Given the description of an element on the screen output the (x, y) to click on. 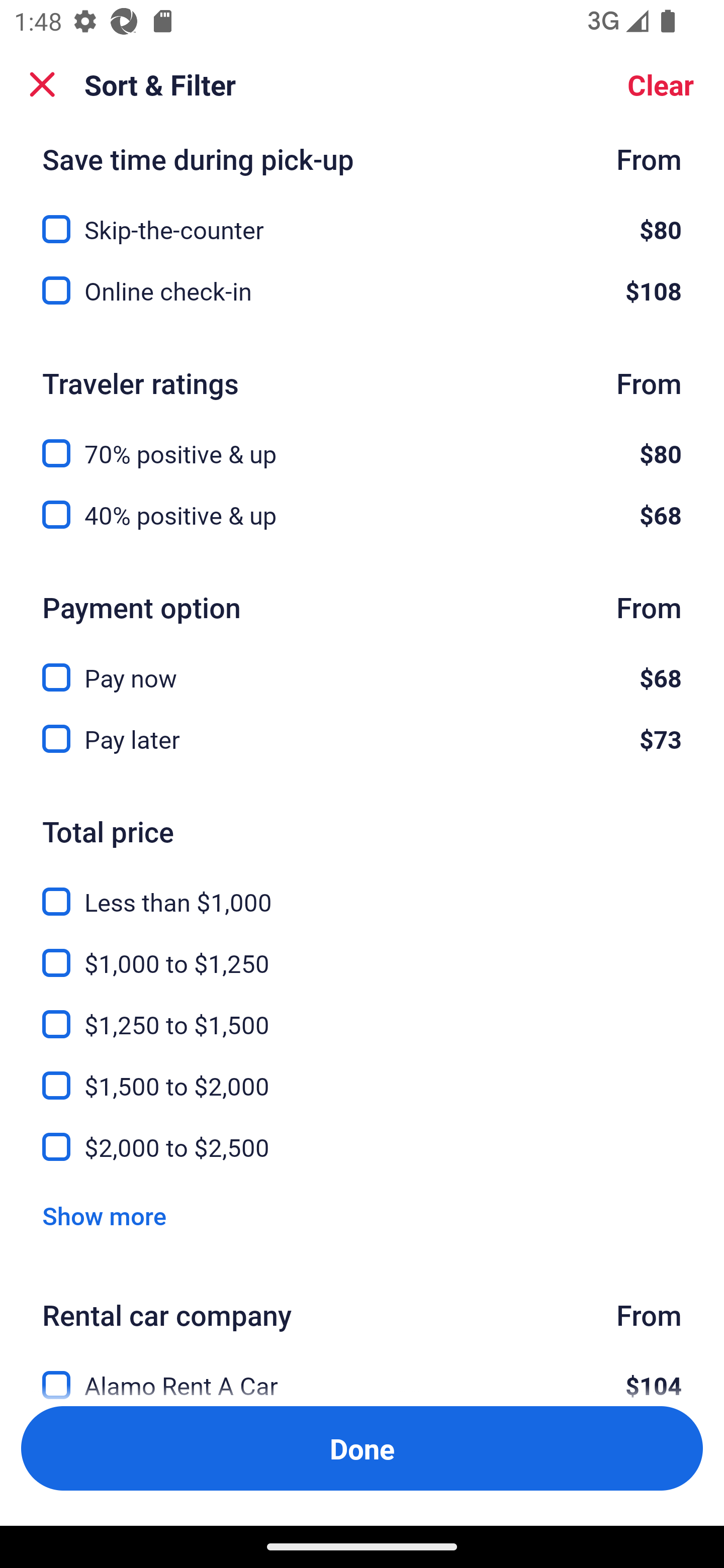
Close Sort and Filter (42, 84)
Clear (660, 84)
Skip-the-counter, $80 Skip-the-counter $80 (361, 218)
Online check-in, $108 Online check-in $108 (361, 290)
70% positive & up, $80 70% positive & up $80 (361, 441)
40% positive & up, $68 40% positive & up $68 (361, 514)
Pay now, $68 Pay now $68 (361, 666)
Pay later, $73 Pay later $73 (361, 738)
Less than $1,000, Less than $1,000 (361, 890)
$1,000 to $1,250, $1,000 to $1,250 (361, 952)
$1,250 to $1,500, $1,250 to $1,500 (361, 1013)
$1,500 to $2,000, $1,500 to $2,000 (361, 1074)
$2,000 to $2,500, $2,000 to $2,500 (361, 1147)
Show more Show more Link (103, 1214)
Alamo Rent A Car, $104 Alamo Rent A Car $104 (361, 1373)
Apply and close Sort and Filter Done (361, 1448)
